Given the description of an element on the screen output the (x, y) to click on. 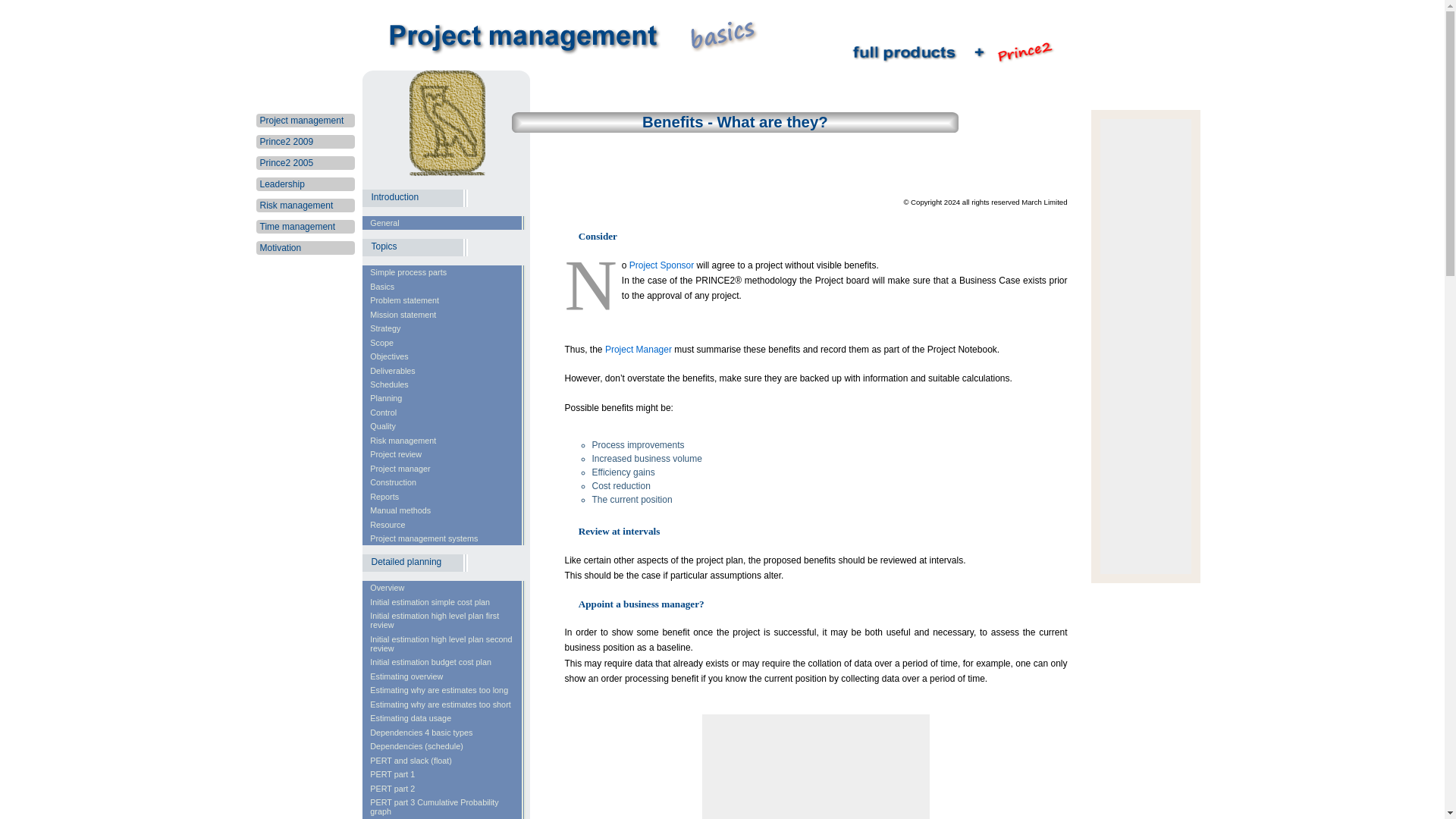
Google AdSense Placeholder (815, 766)
Prince2 2005 (286, 163)
General (443, 223)
Scope (443, 341)
Risk management (296, 204)
Time management (296, 226)
Basics (443, 285)
Problem statement (443, 300)
Motivation (280, 247)
Leadership (281, 184)
